Given the description of an element on the screen output the (x, y) to click on. 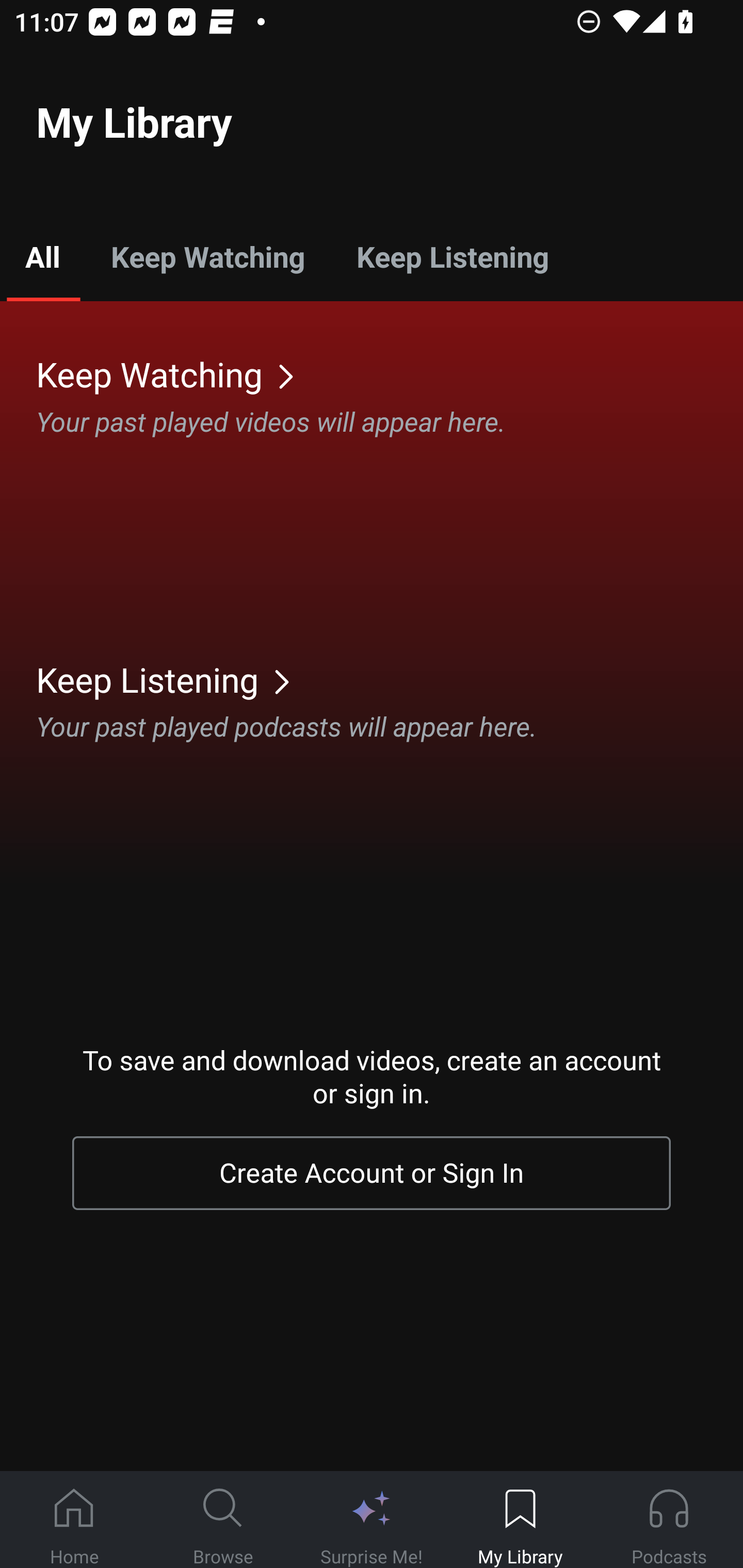
All (42, 256)
Keep Watching (207, 256)
Keep Listening (452, 256)
Keep Watching (389, 373)
Keep Listening (389, 679)
Create Account or Sign In (371, 1173)
Home (74, 1520)
Browse (222, 1520)
Surprise Me! (371, 1520)
My Library (519, 1520)
Podcasts (668, 1520)
